Given the description of an element on the screen output the (x, y) to click on. 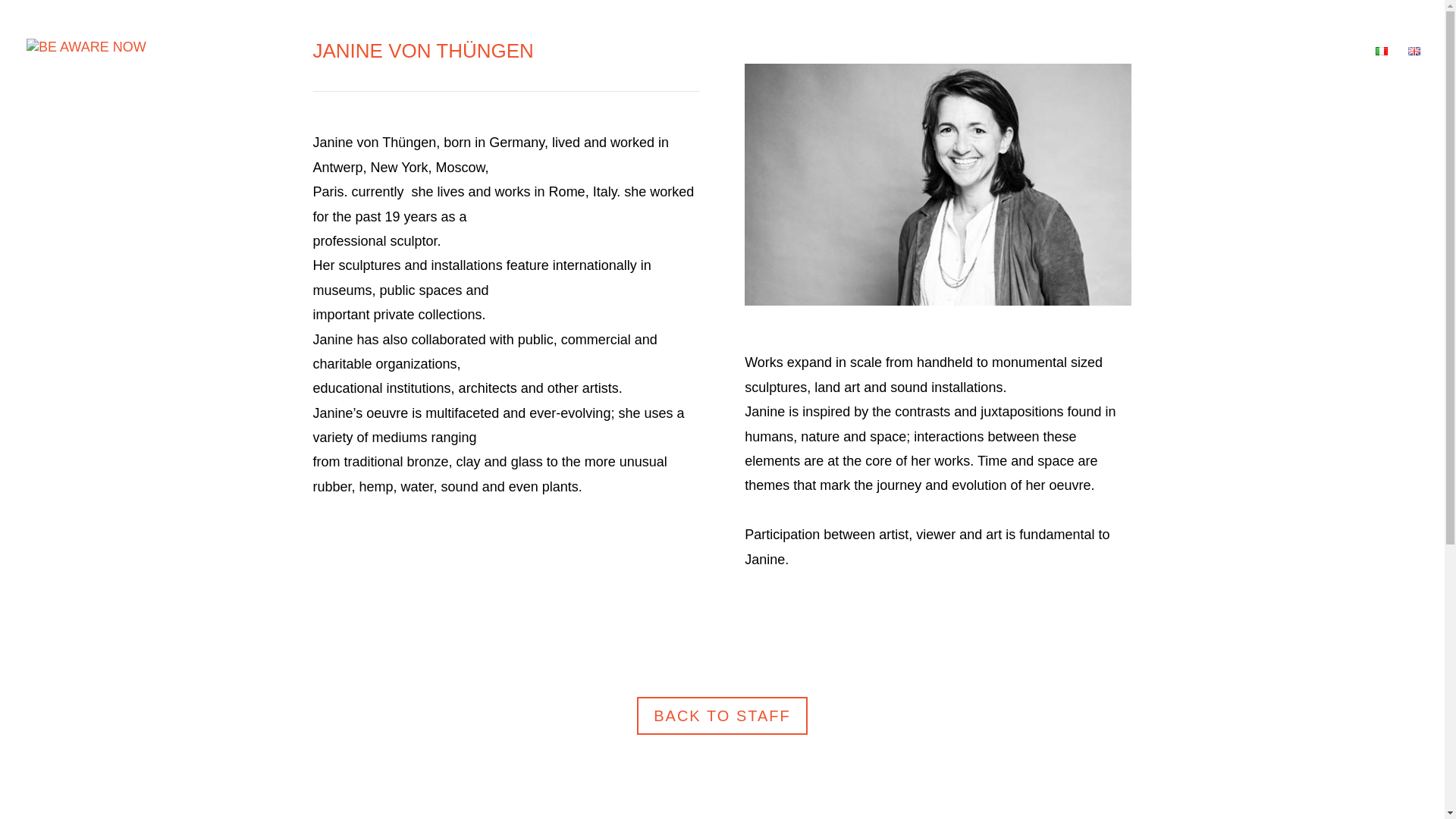
ABOUT US (927, 74)
WORK WITH US (1307, 74)
PARTNERS (1104, 74)
ACTIONS (1015, 74)
PARTICIPATE (1198, 74)
janine (937, 184)
BACK TO STAFF (721, 715)
